Given the description of an element on the screen output the (x, y) to click on. 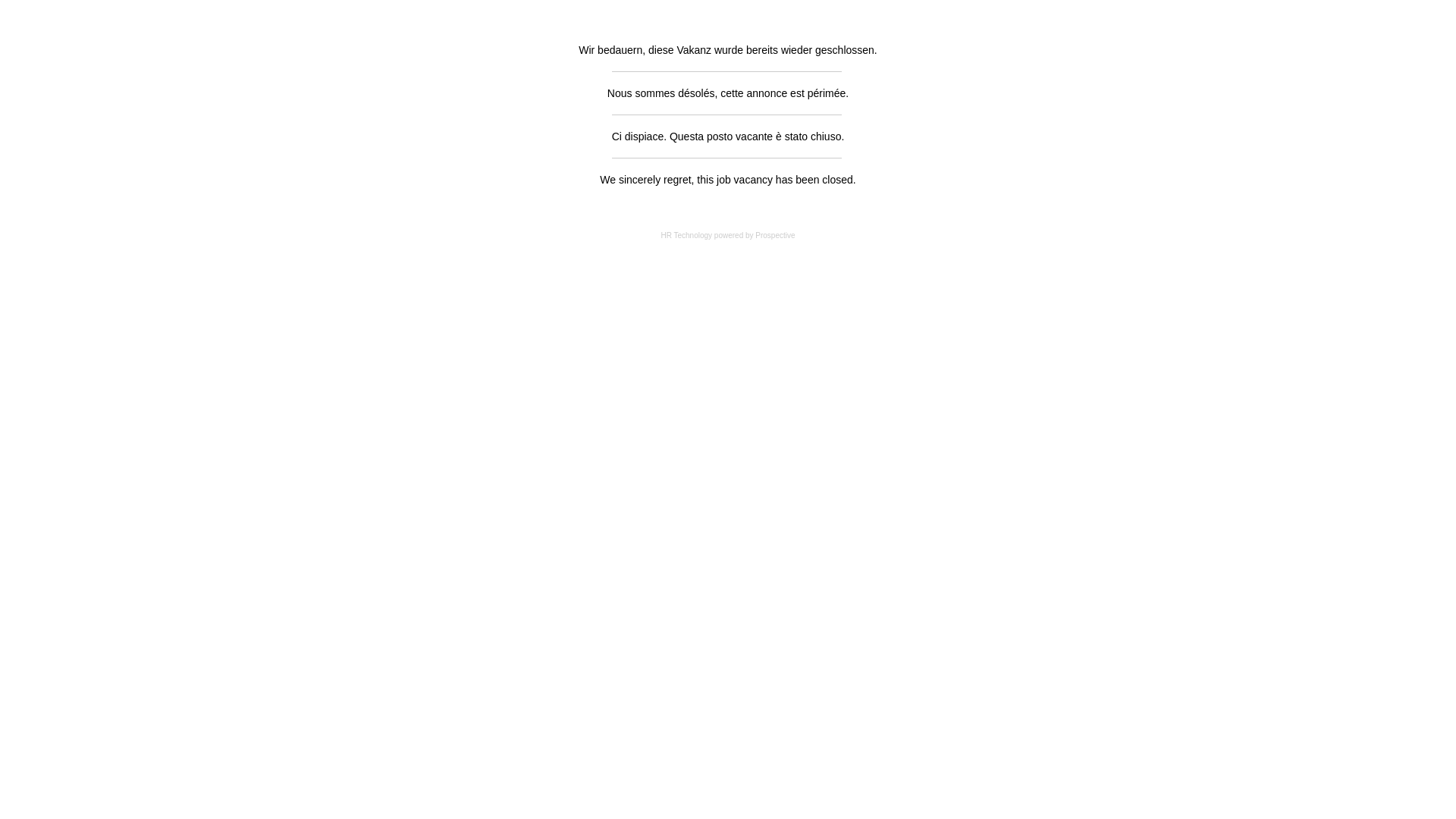
HR Technology powered by Prospective Element type: text (727, 235)
